Given the description of an element on the screen output the (x, y) to click on. 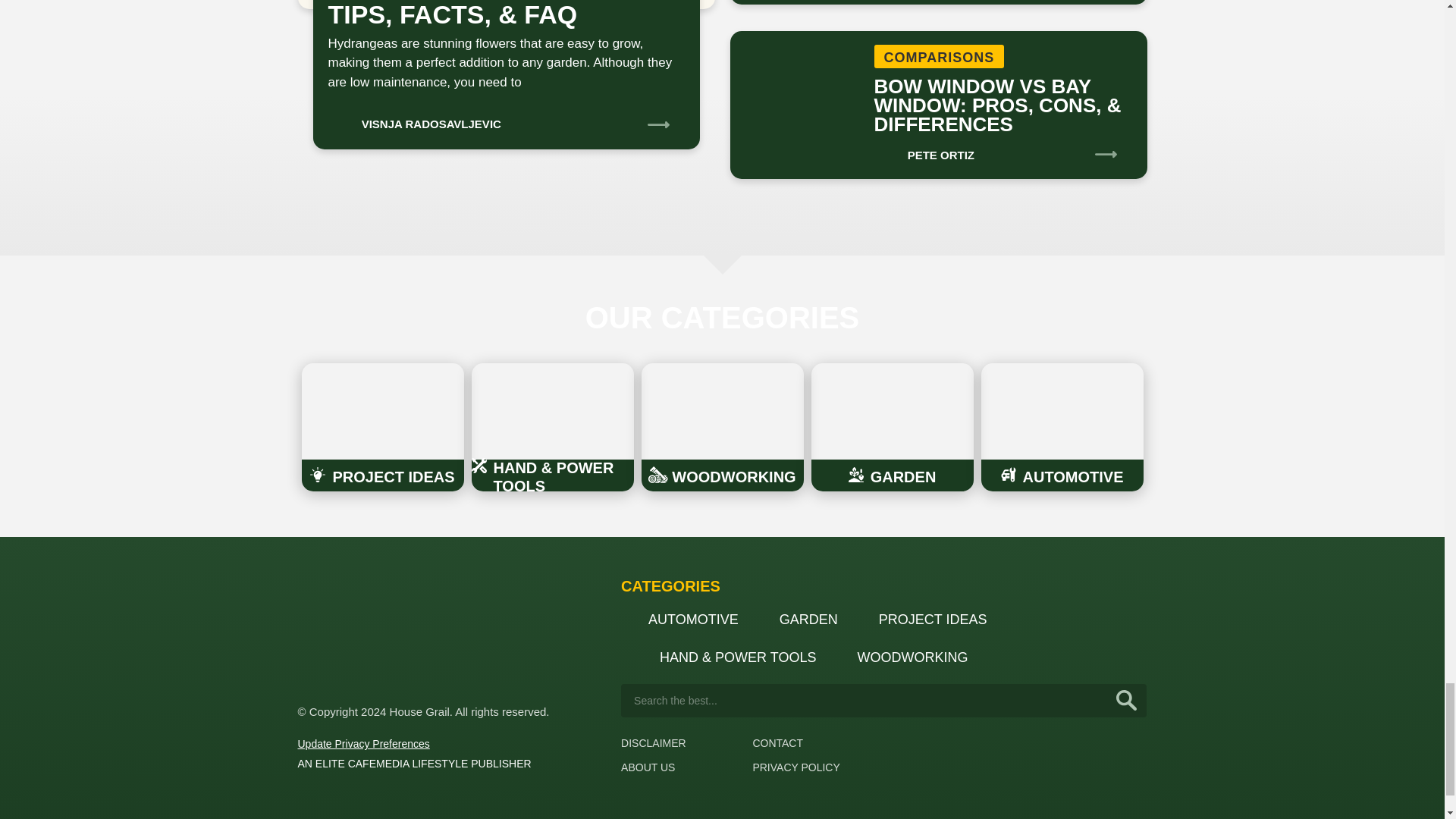
Search (1126, 700)
house-grail-logo (353, 631)
VISNJA RADOSAVLJEVIC (413, 119)
